Given the description of an element on the screen output the (x, y) to click on. 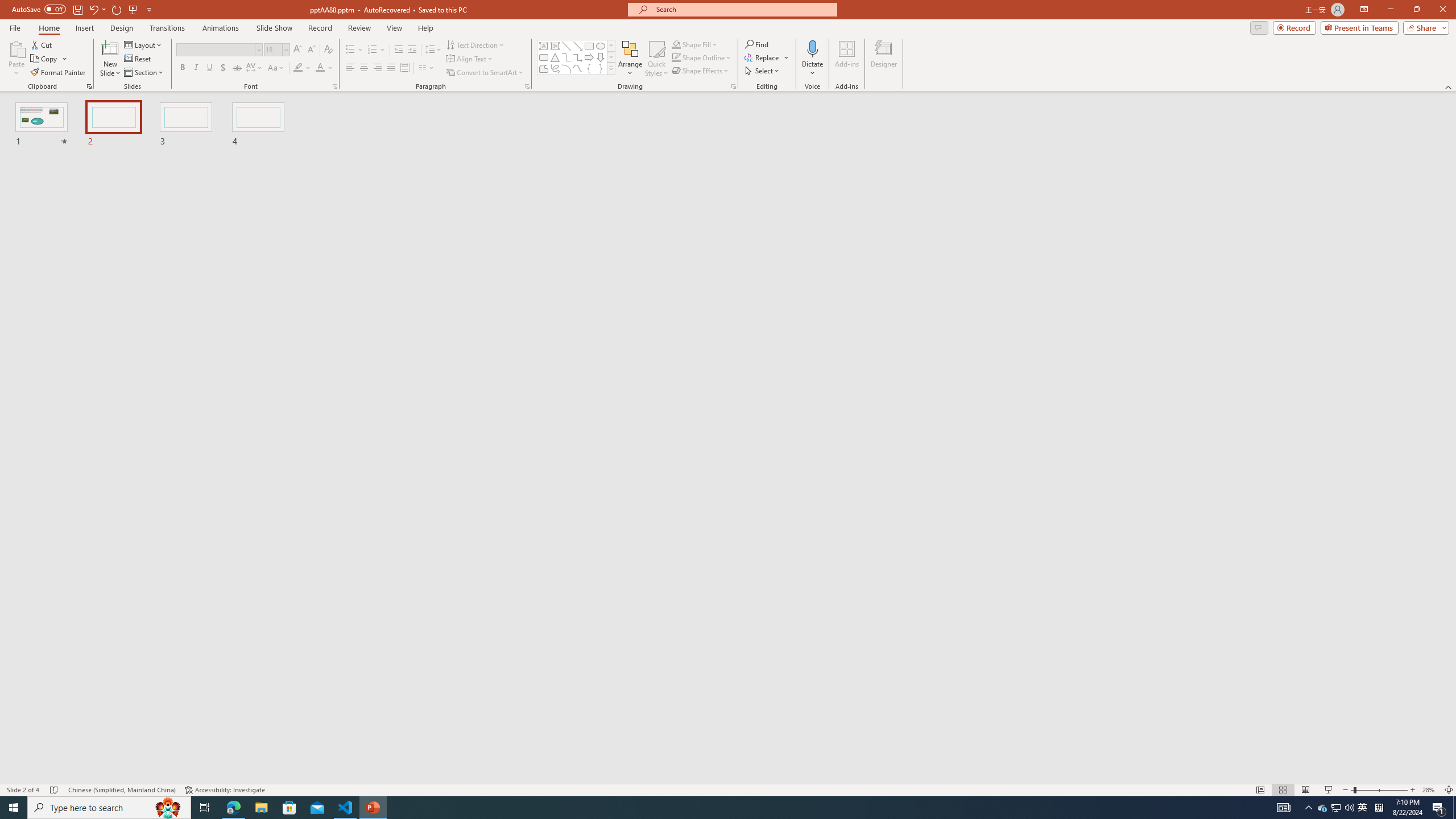
Shape Outline Teal, Accent 1 (675, 56)
Zoom 28% (1430, 790)
